Given the description of an element on the screen output the (x, y) to click on. 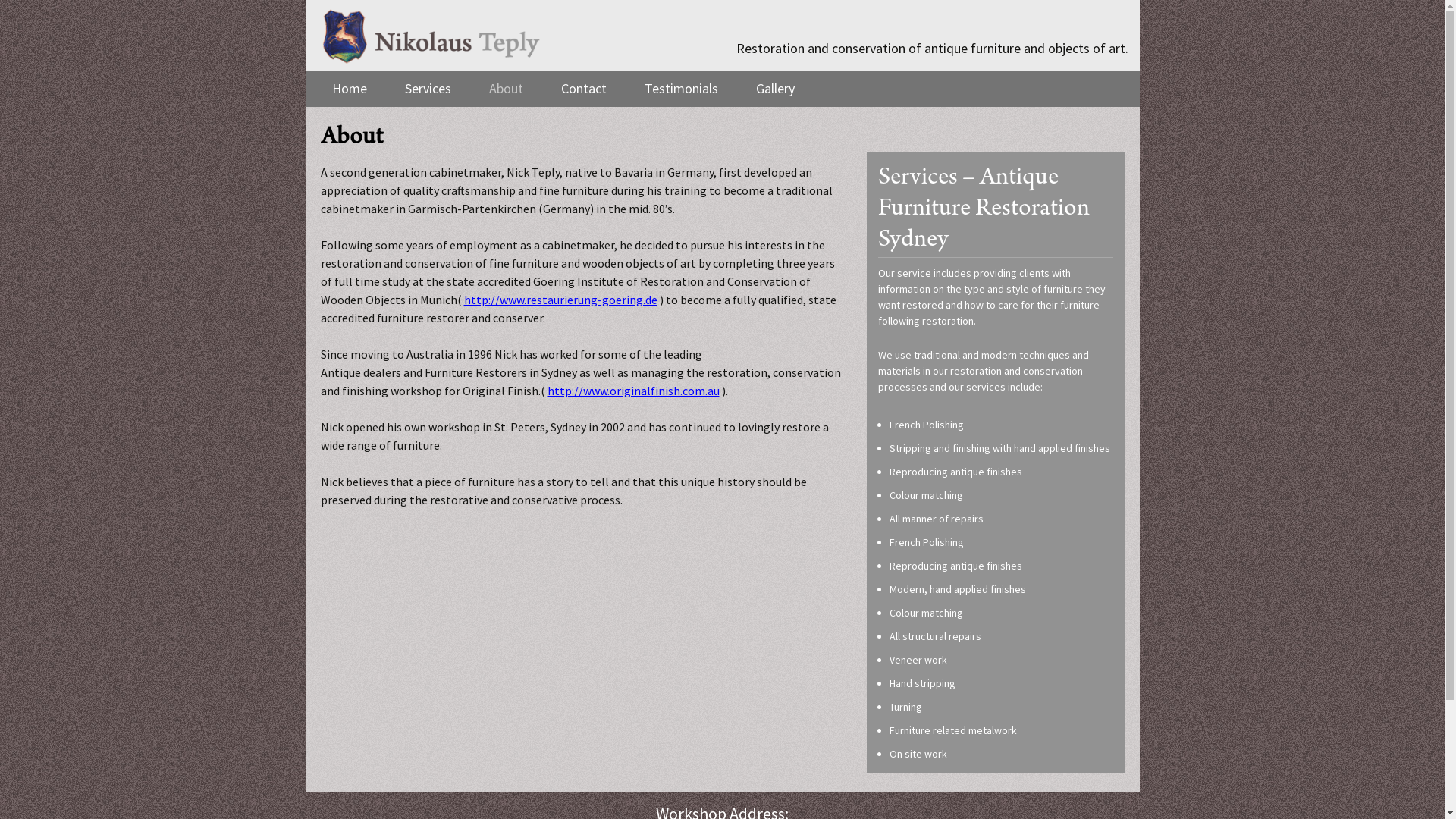
http://www.restaurierung-goering.de Element type: text (560, 299)
Skip to content Element type: text (312, 70)
Gallery Element type: text (774, 88)
Testimonials Element type: text (681, 88)
Services Element type: text (427, 88)
Contact Element type: text (583, 88)
Home Element type: text (349, 88)
Nikolaus Teply Element type: hover (429, 35)
About Element type: text (505, 88)
http://www.originalfinish.com.au Element type: text (633, 390)
